Given the description of an element on the screen output the (x, y) to click on. 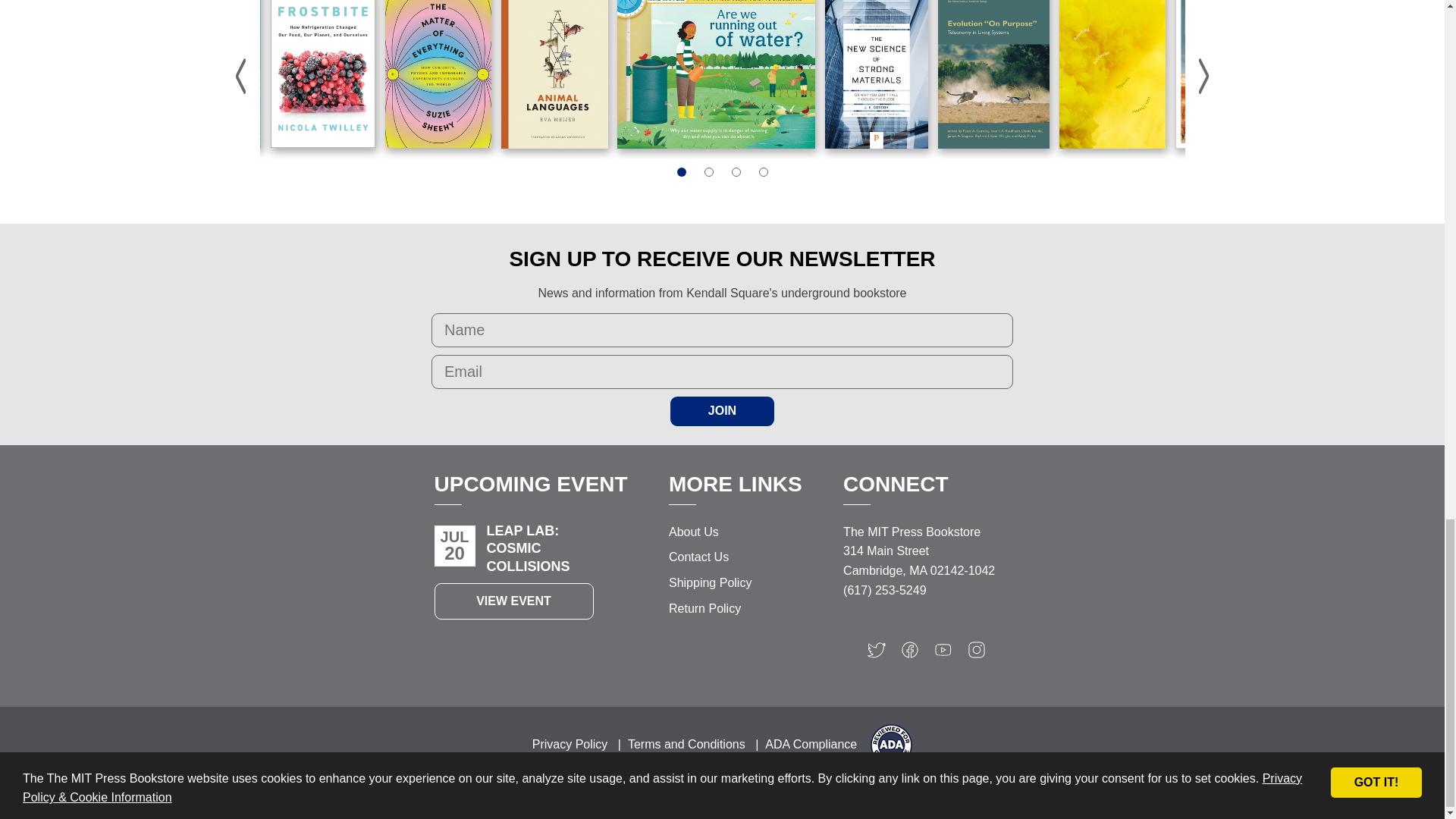
Join (721, 410)
